Given the description of an element on the screen output the (x, y) to click on. 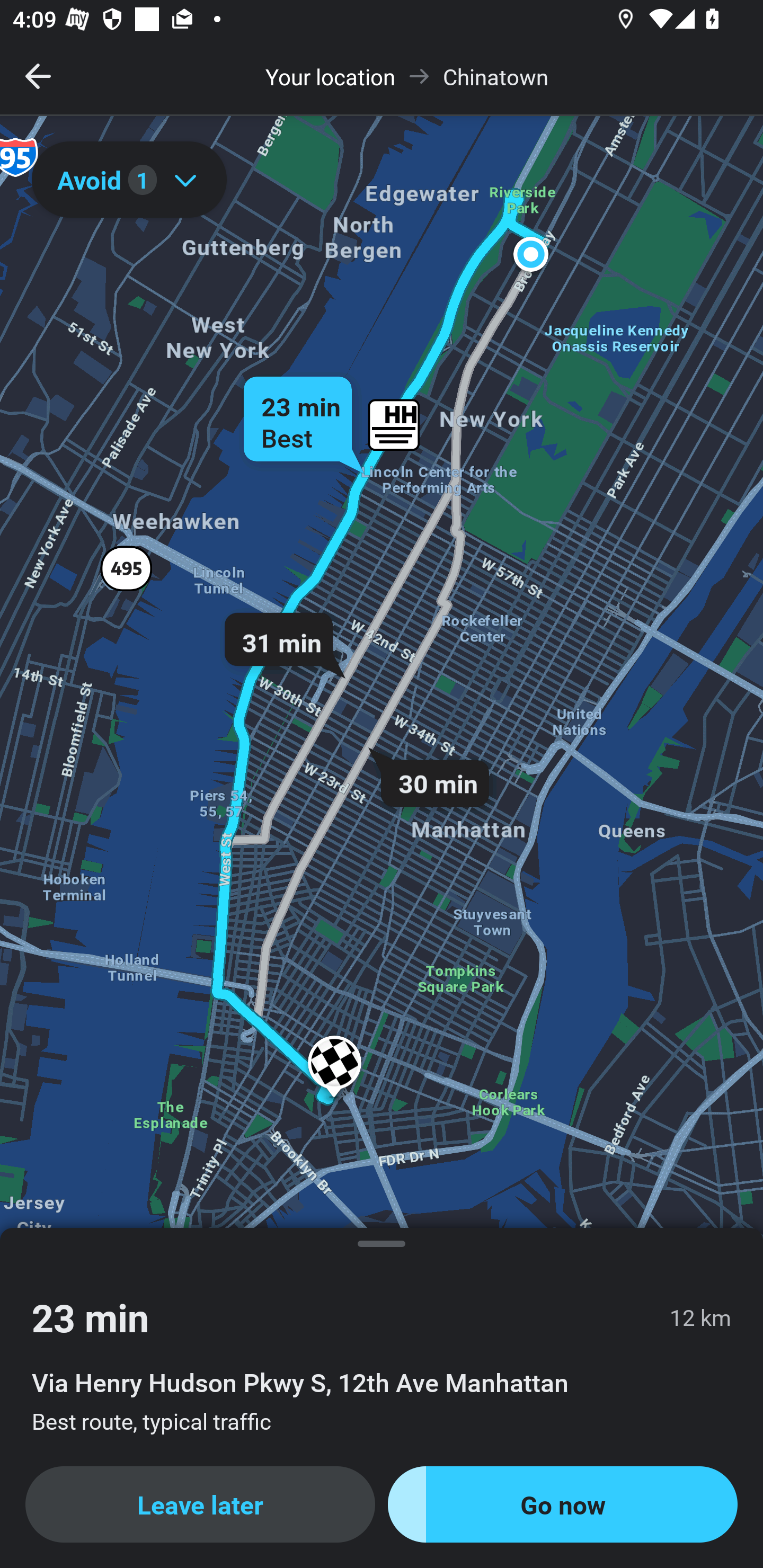
Leave later (200, 1504)
Go now (562, 1504)
